Given the description of an element on the screen output the (x, y) to click on. 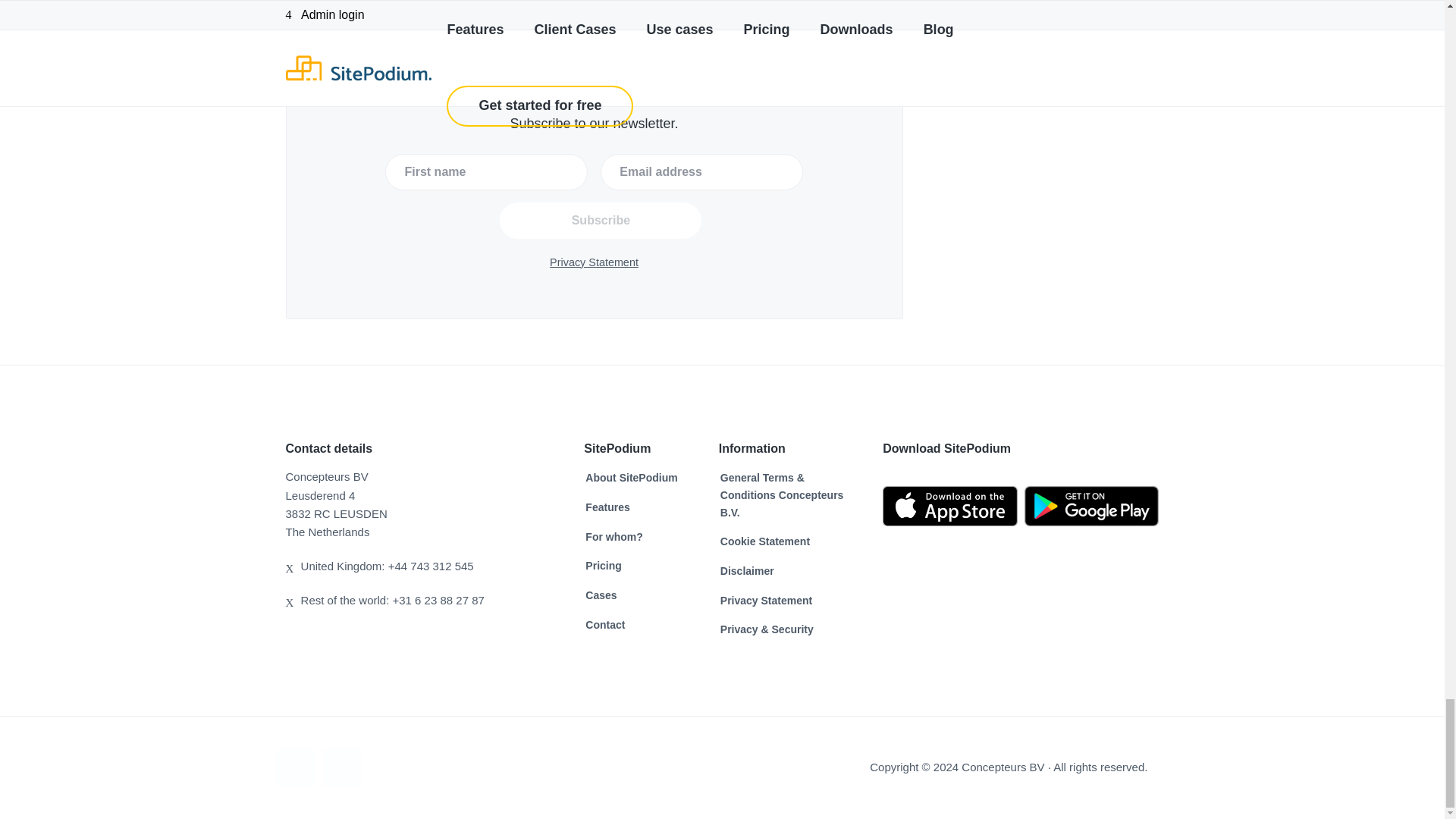
Subscribe (600, 220)
Privacy Policy SItePodium (766, 600)
Cases BouwApp (600, 595)
Subscribe (600, 220)
For whom is SitePodium? (613, 537)
Prijsopties BouwApp (603, 565)
